Given the description of an element on the screen output the (x, y) to click on. 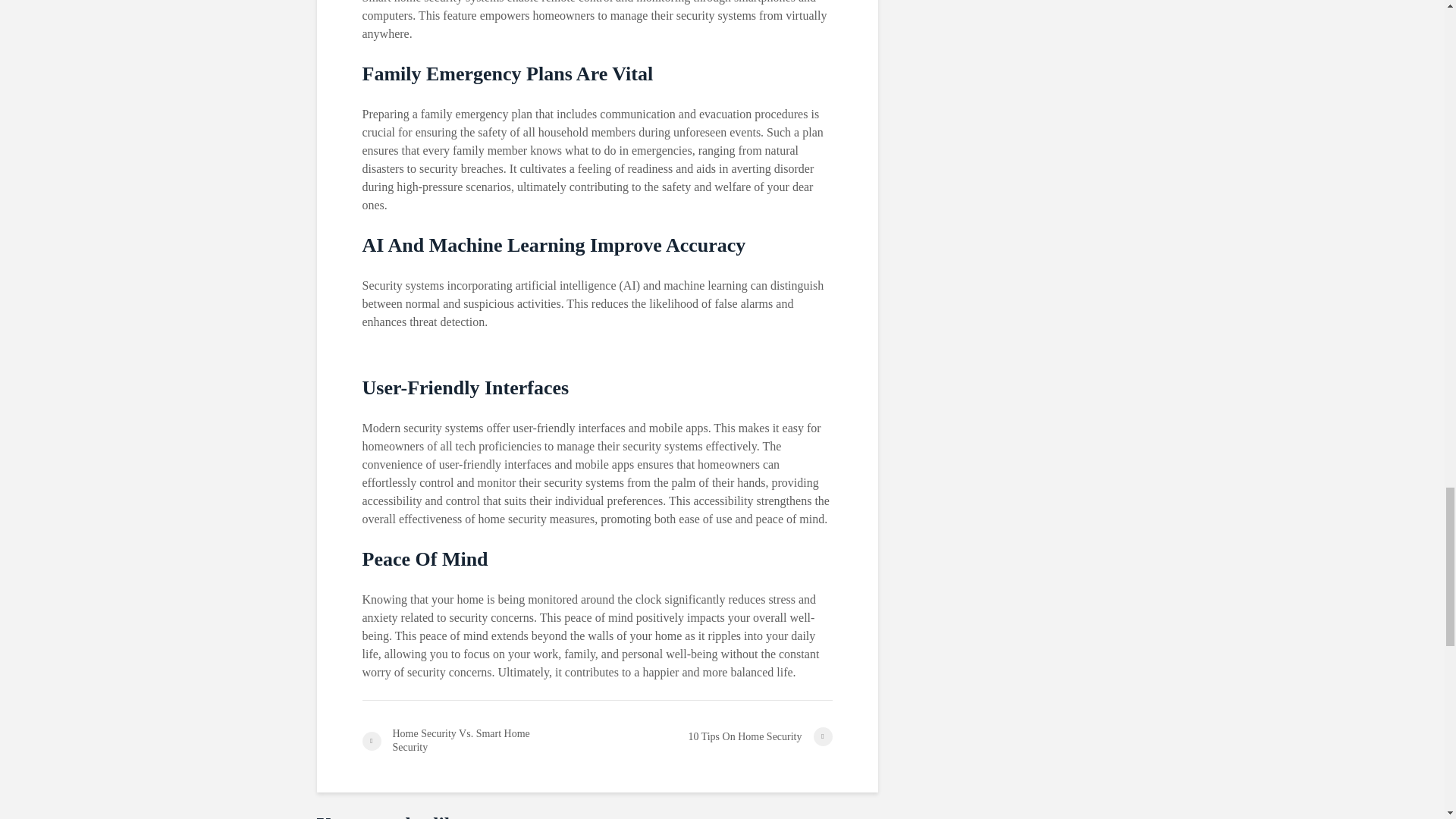
10 Tips On Home Security (714, 736)
Home Security Vs. Smart Home Security (479, 740)
